Given the description of an element on the screen output the (x, y) to click on. 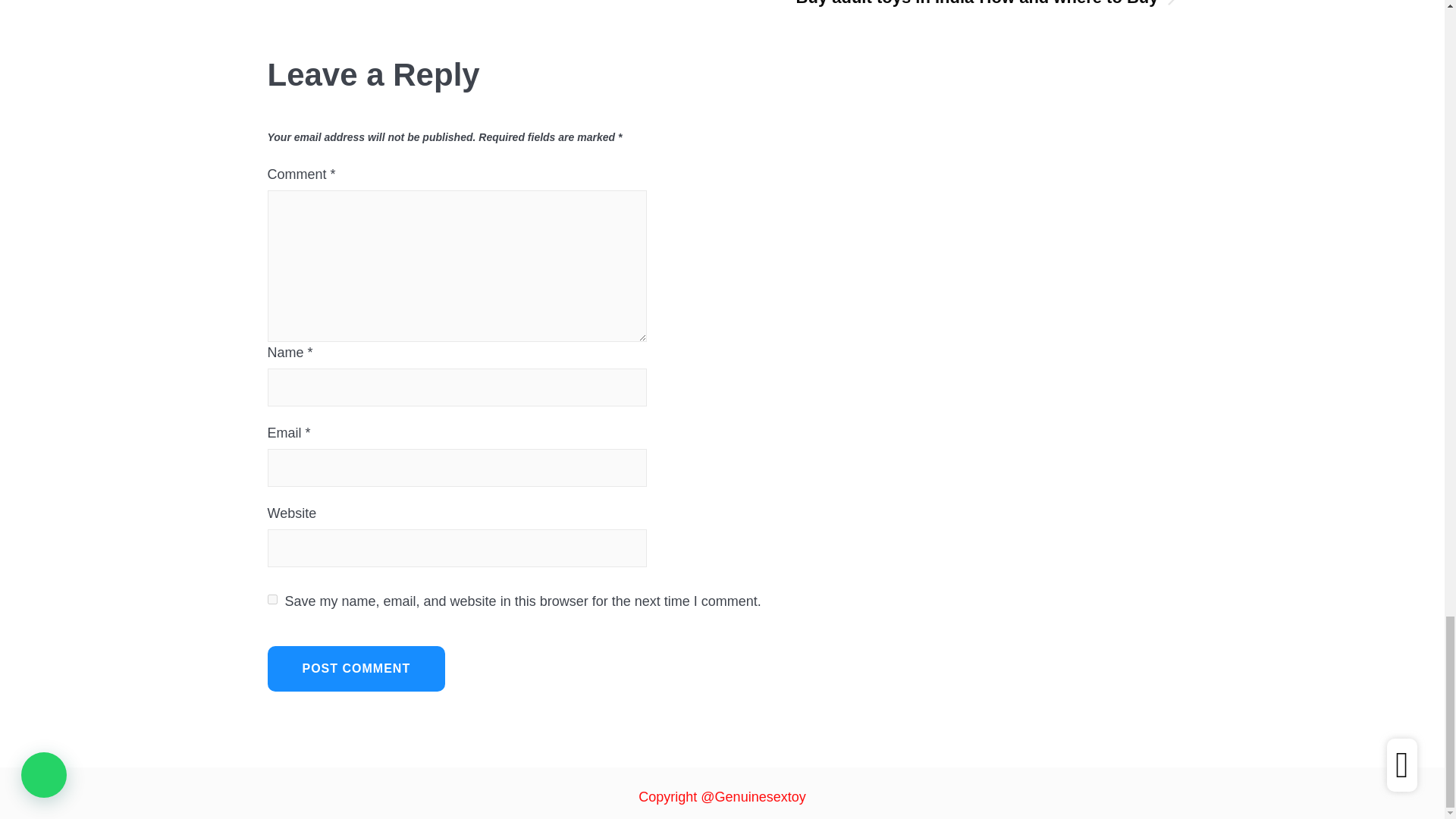
Post Comment (355, 668)
yes (271, 599)
